Given the description of an element on the screen output the (x, y) to click on. 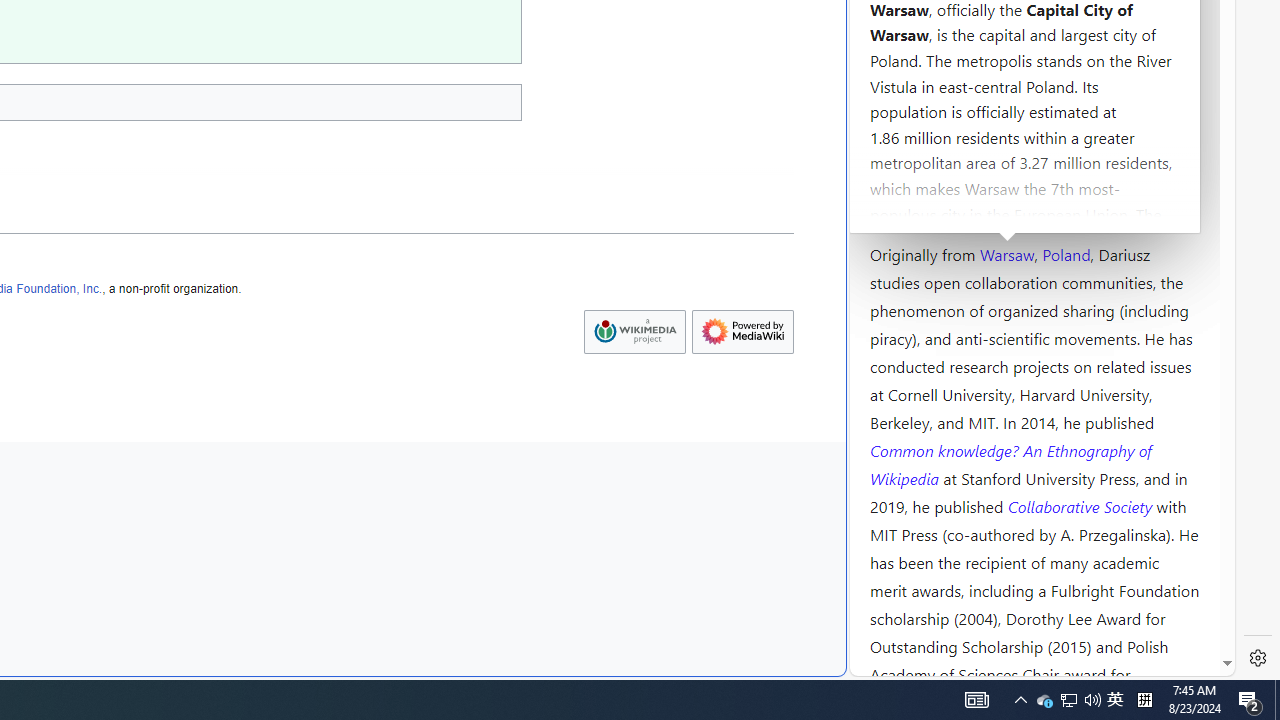
Warsaw (1006, 253)
AutomationID: footer-poweredbyico (742, 331)
Common knowledge? An Ethnography of Wikipedia (1010, 463)
AutomationID: footer-copyrightico (634, 331)
Powered by MediaWiki (742, 331)
Collaborative Society  (1082, 505)
Poland (1065, 253)
Wikimedia Foundation (634, 331)
